Given the description of an element on the screen output the (x, y) to click on. 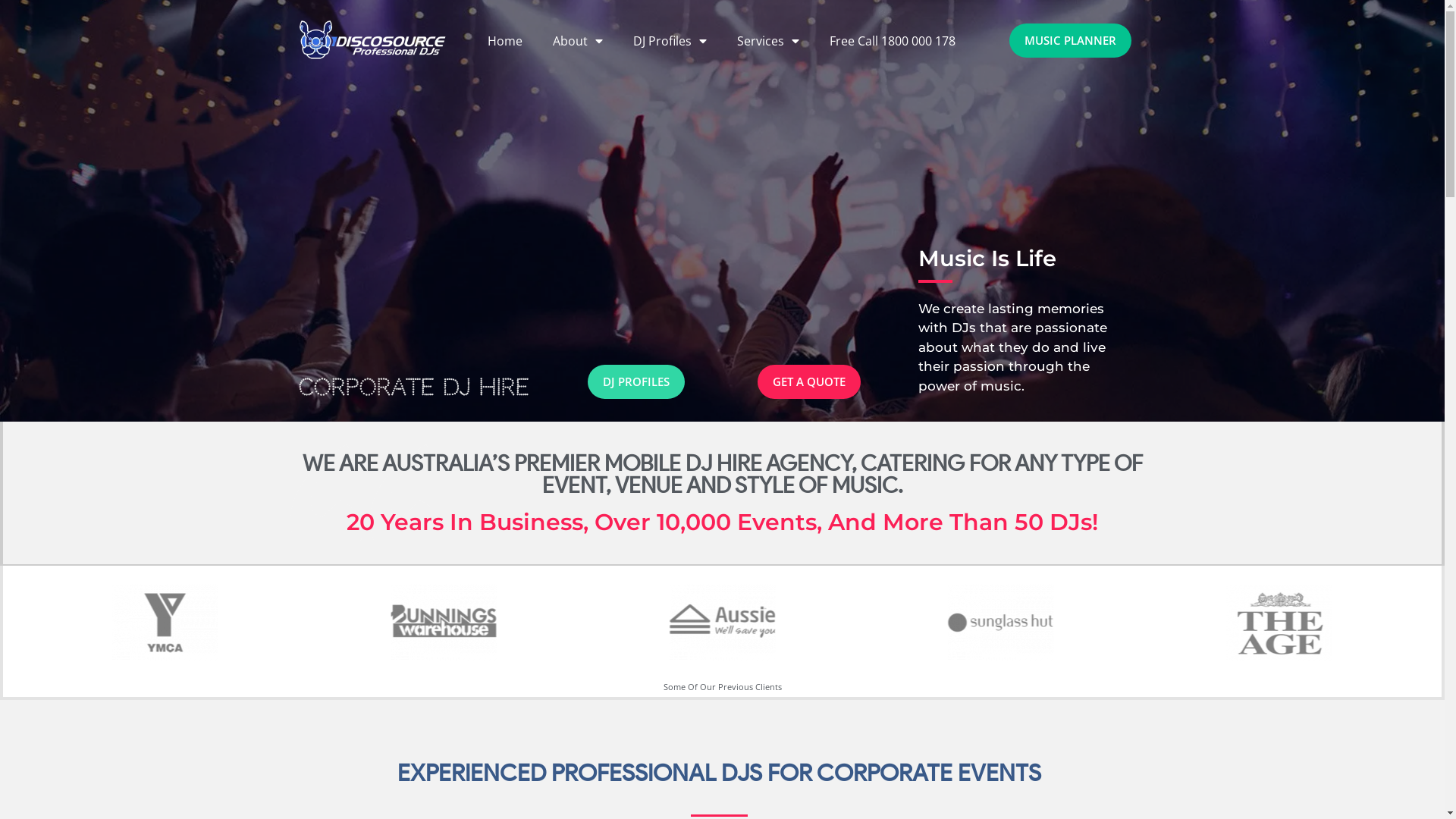
DJ PROFILES Element type: text (635, 381)
MUSIC PLANNER Element type: text (1070, 40)
DJ Profiles Element type: text (669, 40)
About Element type: text (577, 40)
Home Element type: text (504, 40)
Free Call 1800 000 178 Element type: text (892, 40)
Services Element type: text (767, 40)
GET A QUOTE Element type: text (807, 381)
